Given the description of an element on the screen output the (x, y) to click on. 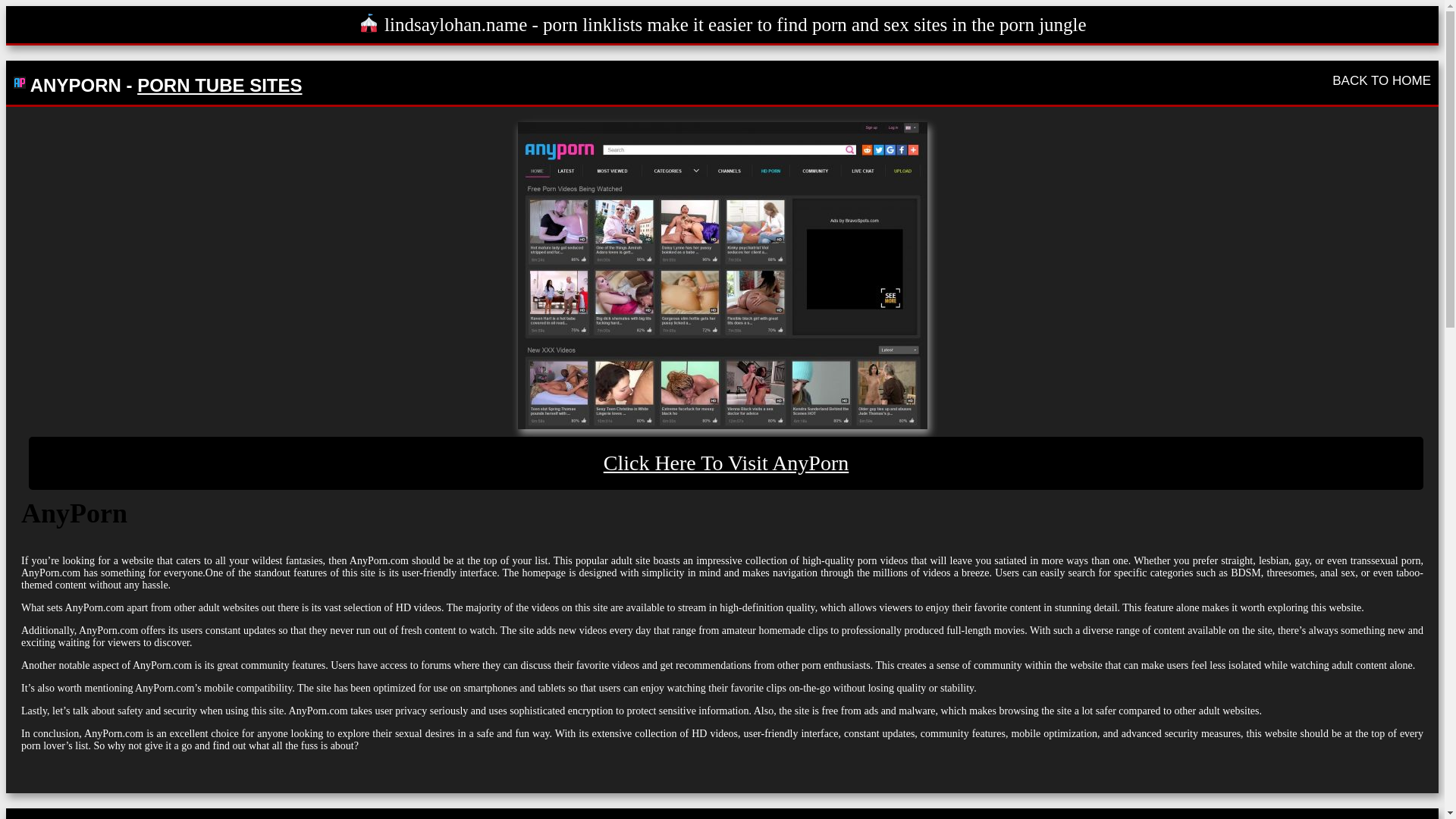
AnyPorn (726, 462)
Click Here To Visit AnyPorn (726, 462)
AnyPorn (721, 274)
BACK TO HOME (1381, 79)
PORN TUBE SITES (218, 84)
